Given the description of an element on the screen output the (x, y) to click on. 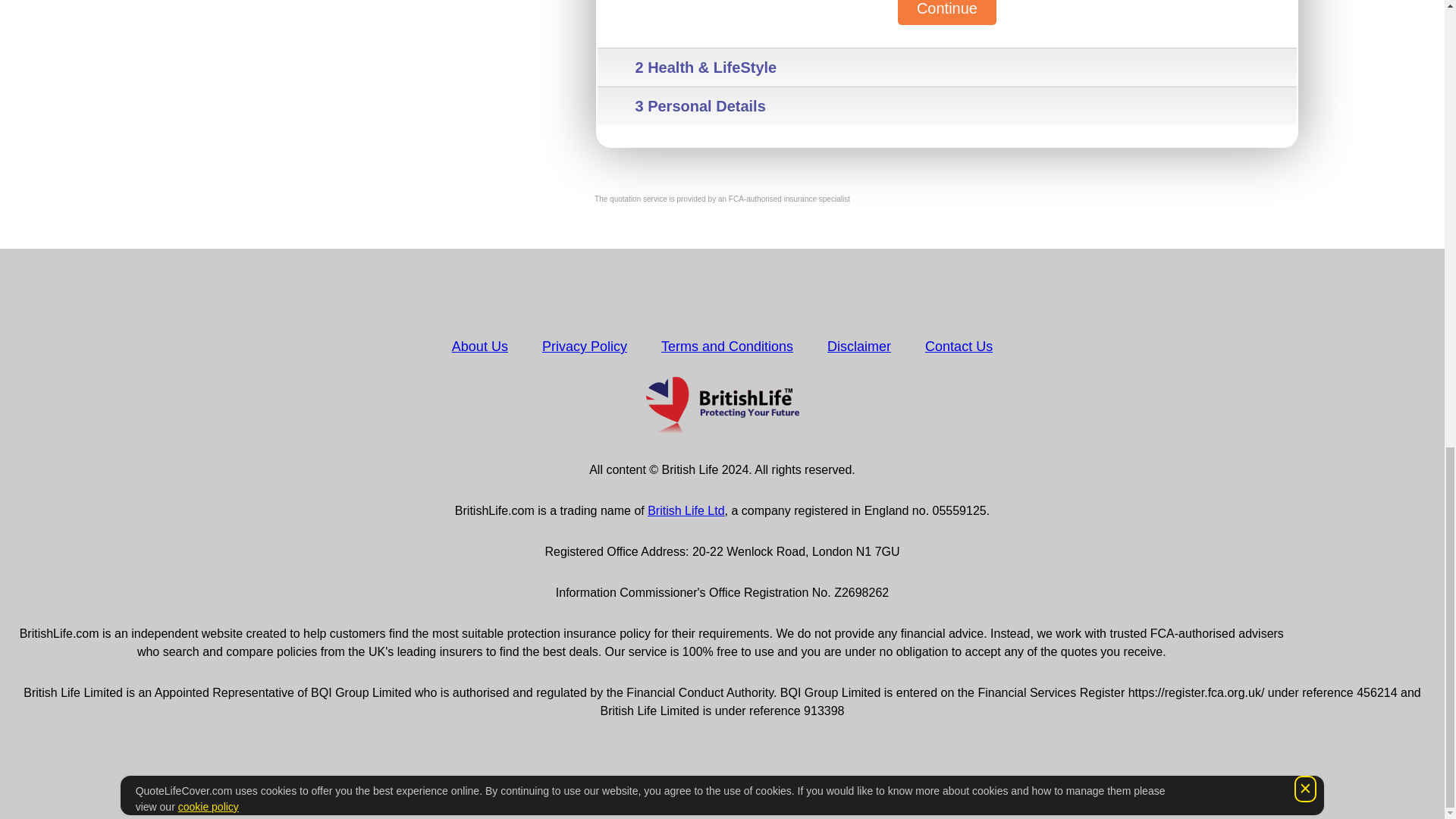
About Us (479, 346)
Terms and Conditions (727, 346)
Privacy Policy (584, 346)
Disclaimer (859, 346)
British Life Ltd (685, 510)
Contact Us (958, 346)
